Given the description of an element on the screen output the (x, y) to click on. 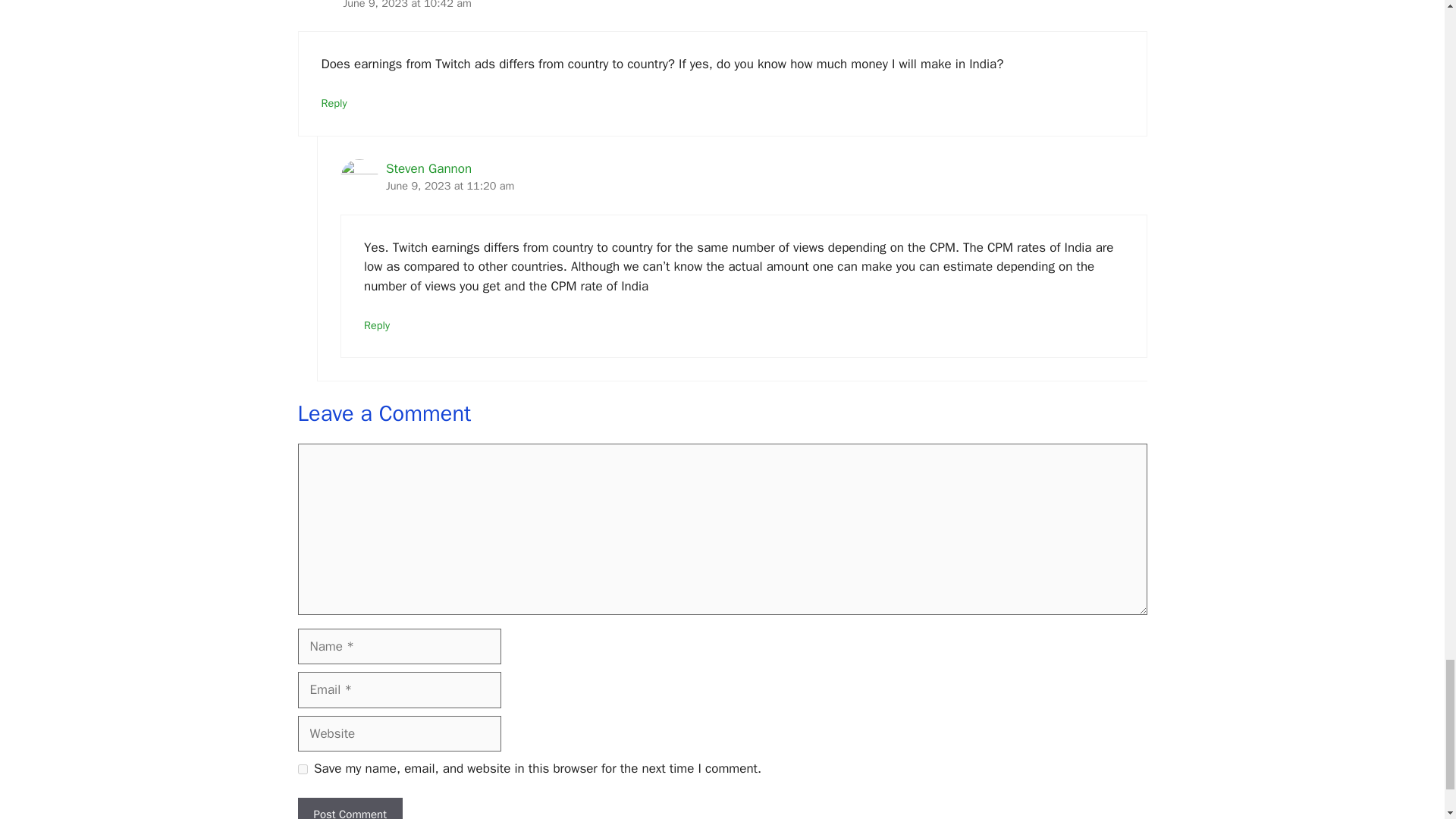
June 9, 2023 at 10:42 am (406, 4)
Post Comment (349, 808)
Post Comment (349, 808)
Reply (377, 325)
Steven Gannon (428, 168)
June 9, 2023 at 11:20 am (449, 185)
Reply (334, 102)
yes (302, 768)
